Given the description of an element on the screen output the (x, y) to click on. 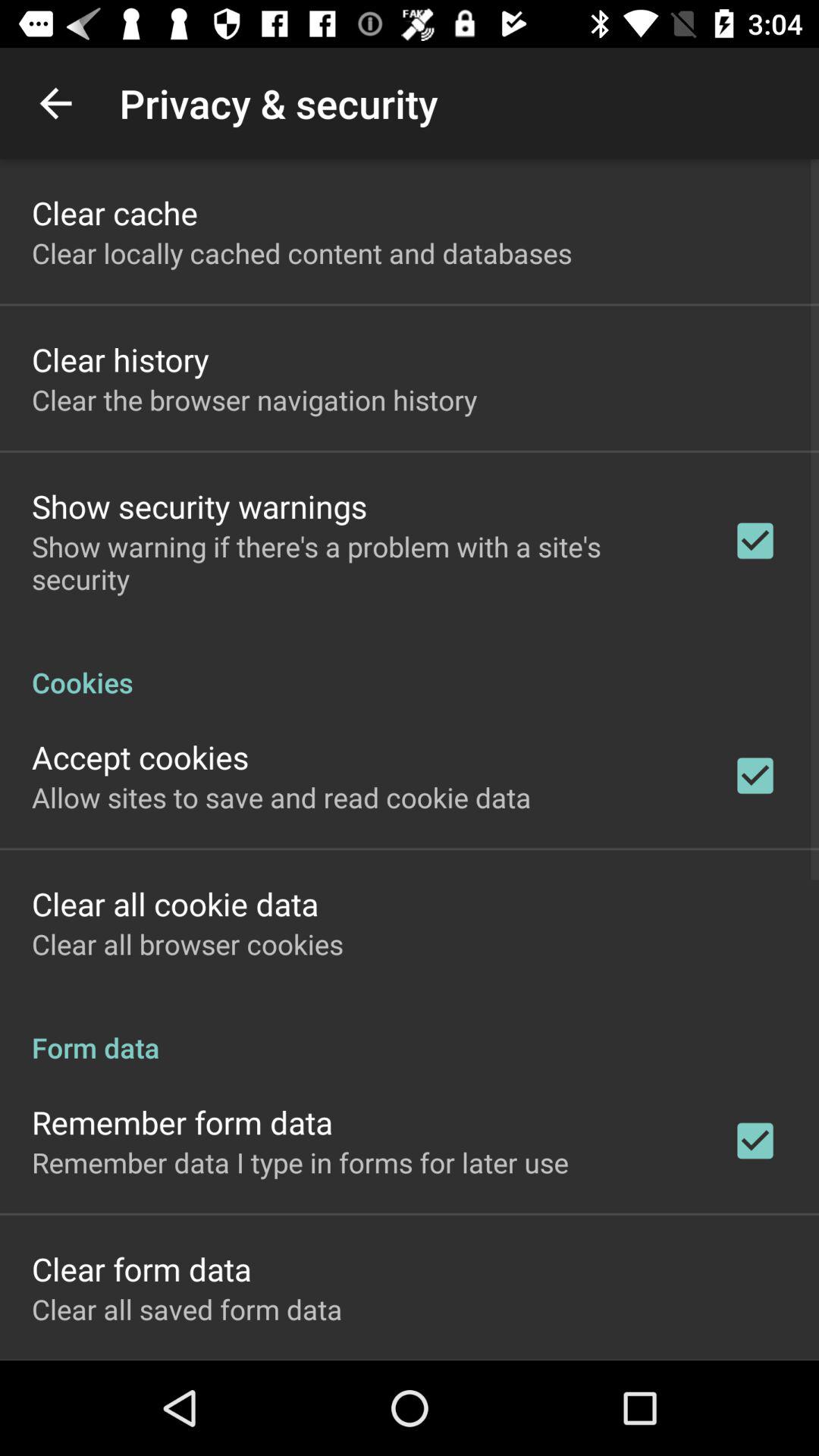
swipe until the show warning if icon (361, 562)
